Given the description of an element on the screen output the (x, y) to click on. 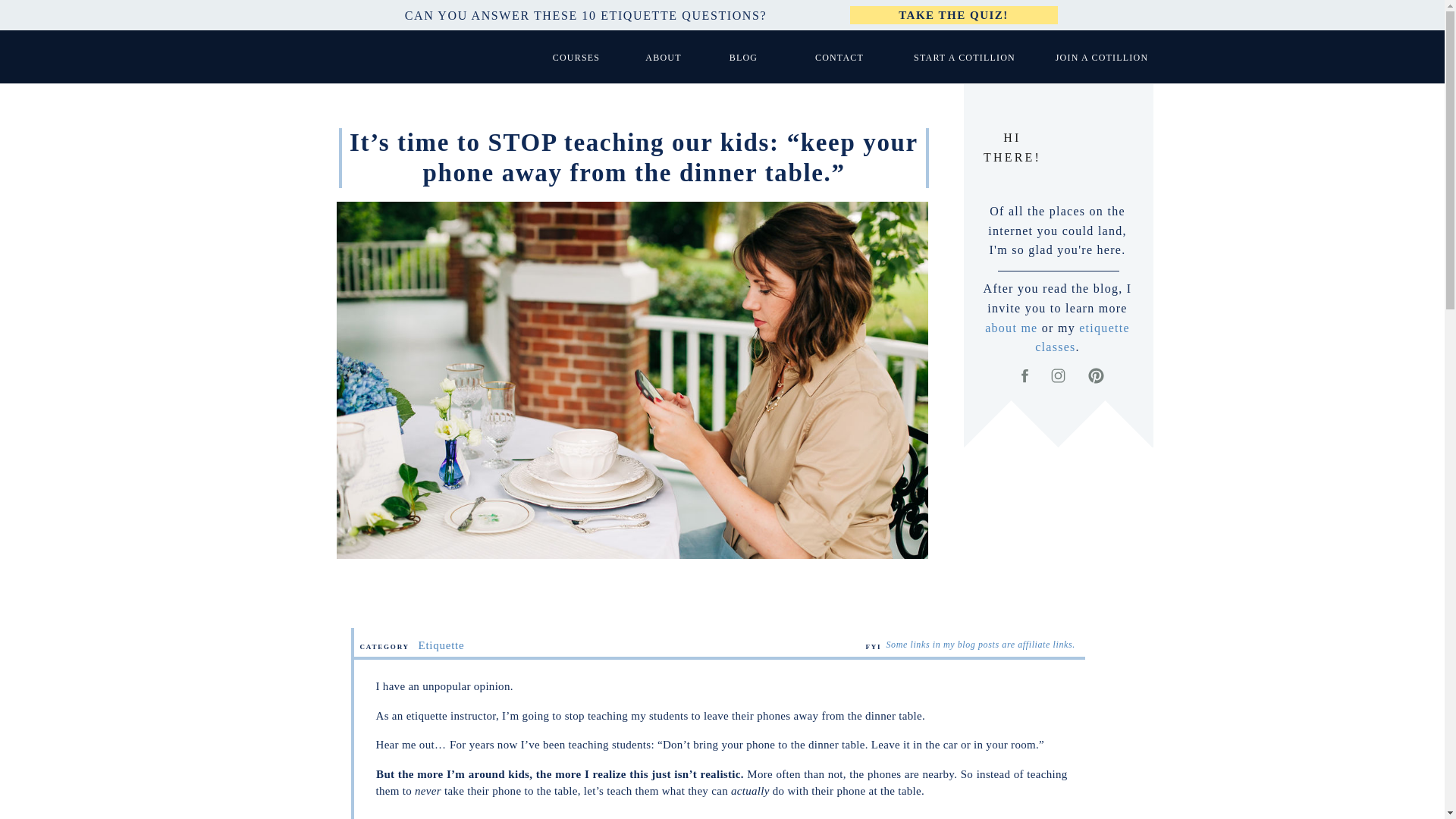
CONTACT (839, 56)
COURSES (575, 56)
TAKE THE QUIZ! (953, 15)
about me (1010, 327)
JOIN A COTILLION (1101, 56)
BLOG (742, 56)
CAN YOU ANSWER THESE 10 ETIQUETTE QUESTIONS? (585, 15)
START A COTILLION (965, 56)
Etiquette (441, 645)
ABOUT (663, 56)
